Given the description of an element on the screen output the (x, y) to click on. 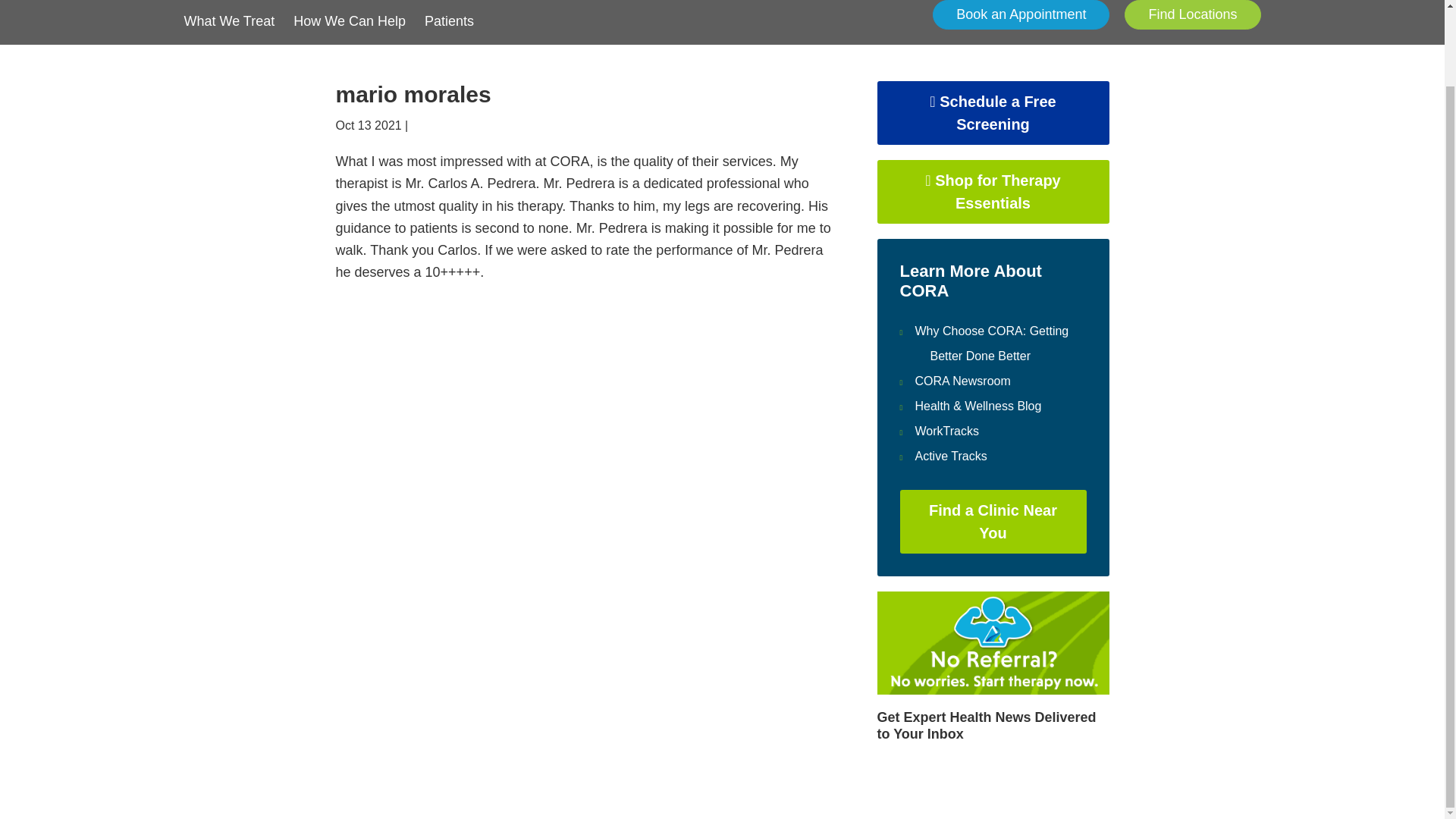
What We Treat (229, 15)
Find Locations (1192, 14)
Book an Appointment (1021, 14)
